Given the description of an element on the screen output the (x, y) to click on. 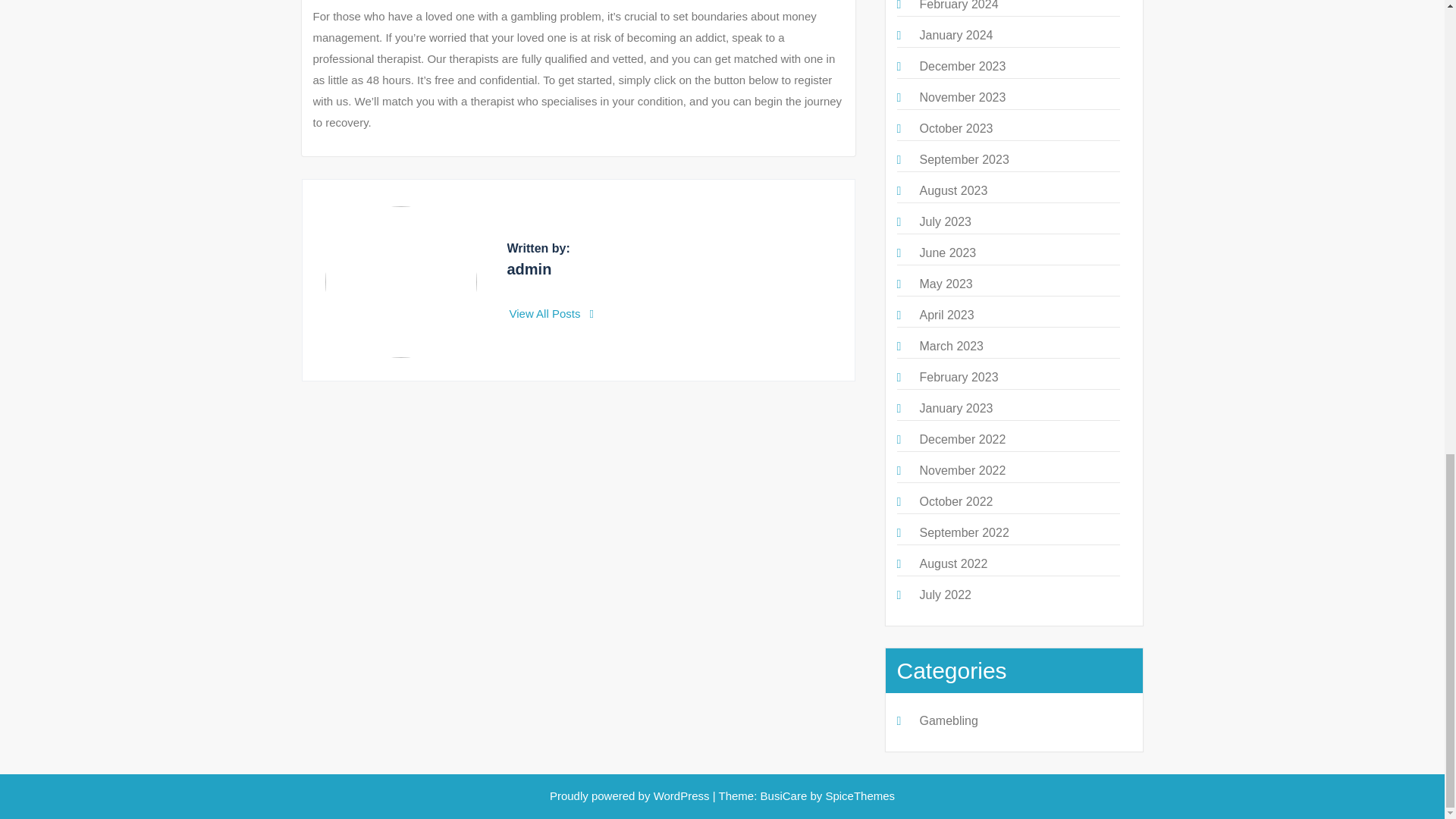
May 2023 (945, 283)
December 2022 (962, 439)
December 2023 (962, 65)
July 2022 (944, 594)
July 2023 (944, 221)
November 2022 (962, 470)
October 2023 (955, 128)
August 2022 (952, 563)
February 2023 (957, 377)
View All Posts (551, 313)
